Given the description of an element on the screen output the (x, y) to click on. 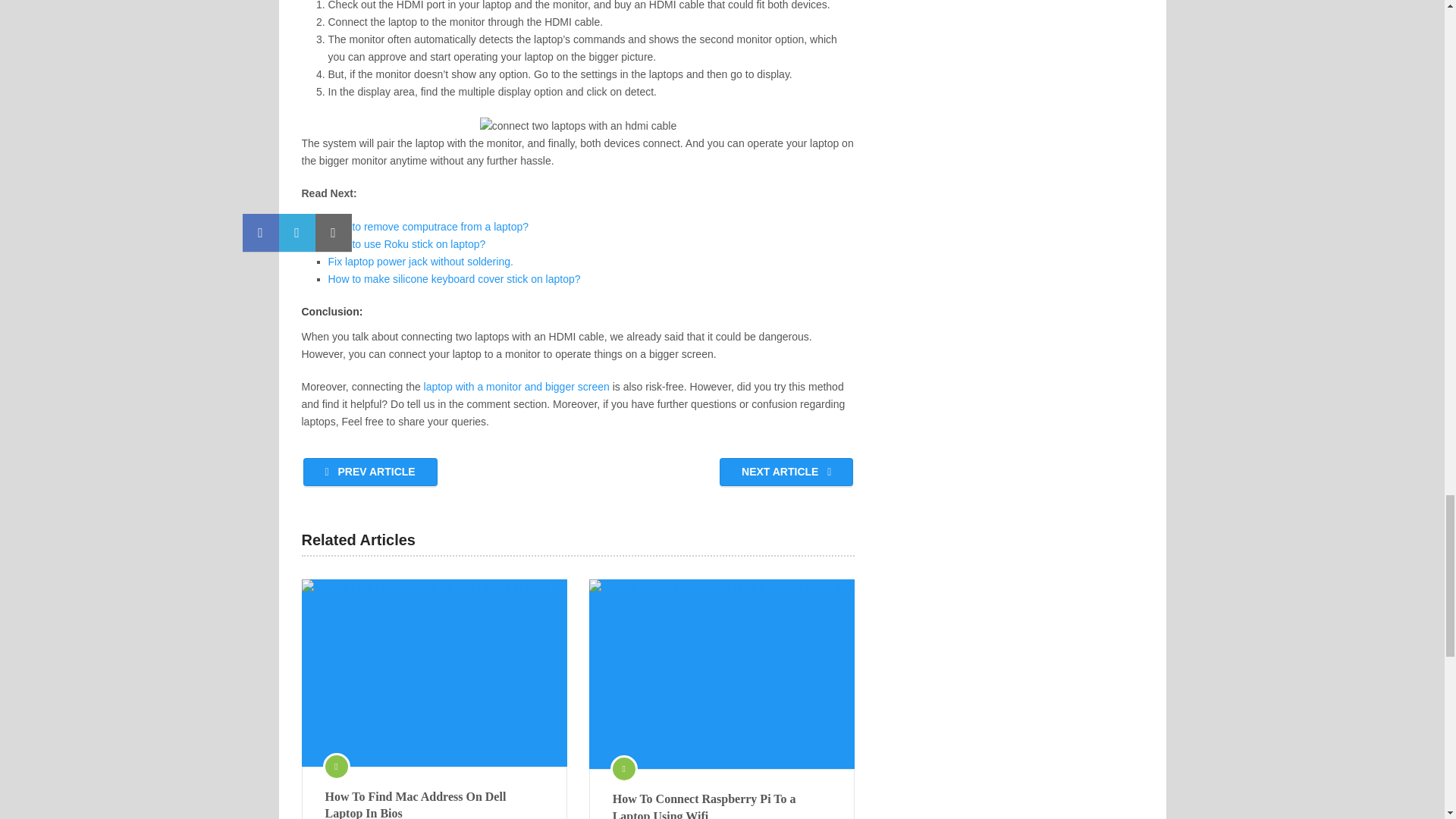
Fix laptop power jack without soldering. (419, 261)
NEXT ARTICLE (786, 471)
How To Connect Raspberry Pi To a Laptop Using Wifi (721, 805)
PREV ARTICLE (370, 471)
How To Find Mac Address On Dell Laptop In Bios (433, 803)
laptop with a monitor and bigger screen (517, 386)
How To Connect Raspberry Pi To a Laptop Using Wifi (721, 805)
How to make silicone keyboard cover stick on laptop? (453, 278)
How to remove computrace from a laptop? (427, 226)
How to use Roku stick on laptop? (405, 244)
How To Connect Raspberry Pi To a Laptop Using Wifi (721, 674)
How To Find Mac Address On Dell Laptop In Bios (434, 672)
How To Find Mac Address On Dell Laptop In Bios (433, 803)
